Given the description of an element on the screen output the (x, y) to click on. 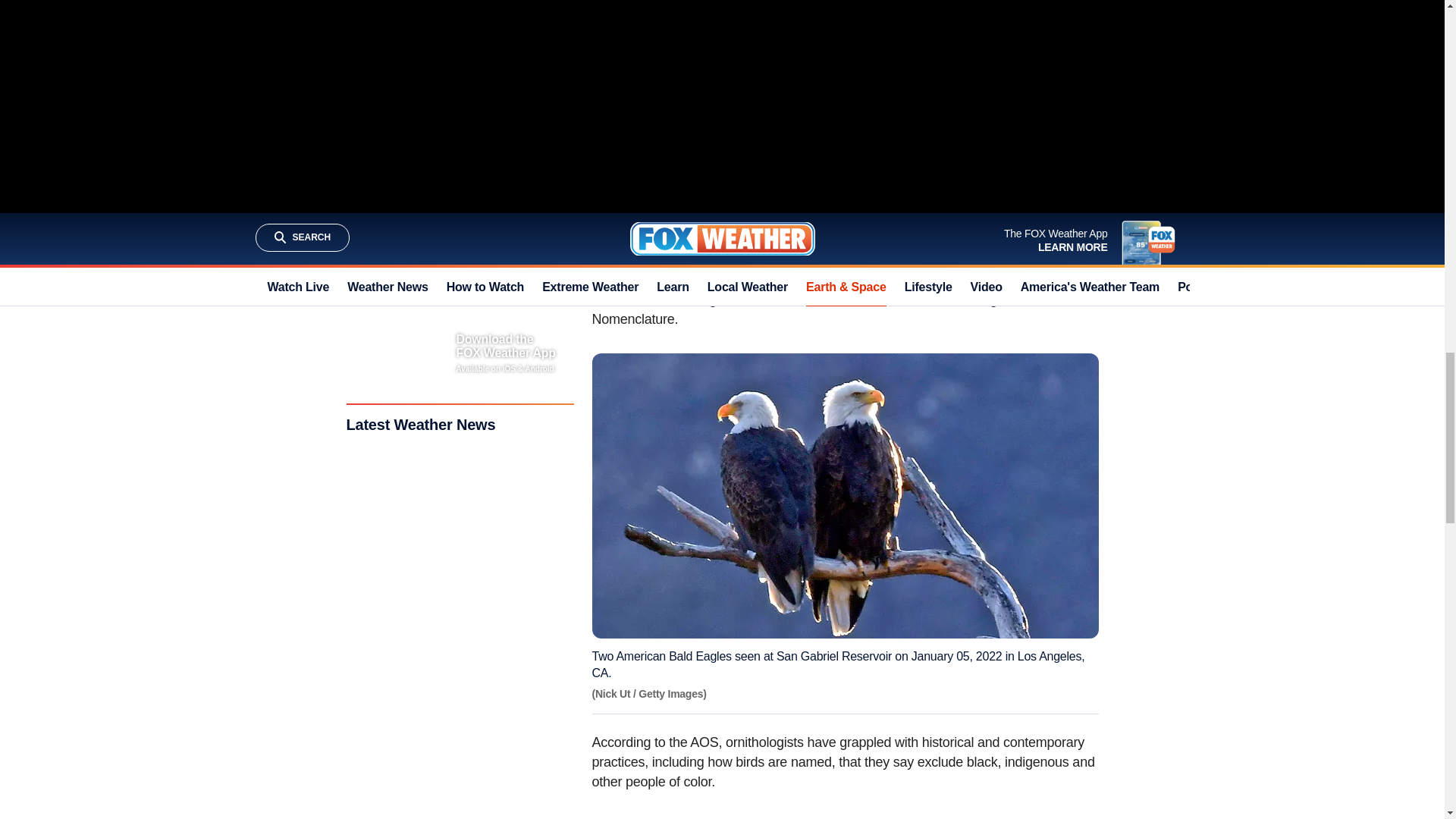
Canada (1002, 48)
bald eagle (663, 259)
HERE ARE THE MOST POPULAR NATIONAL PARKS FOR BIRDWATCHING (826, 132)
U.S. (936, 48)
